Given the description of an element on the screen output the (x, y) to click on. 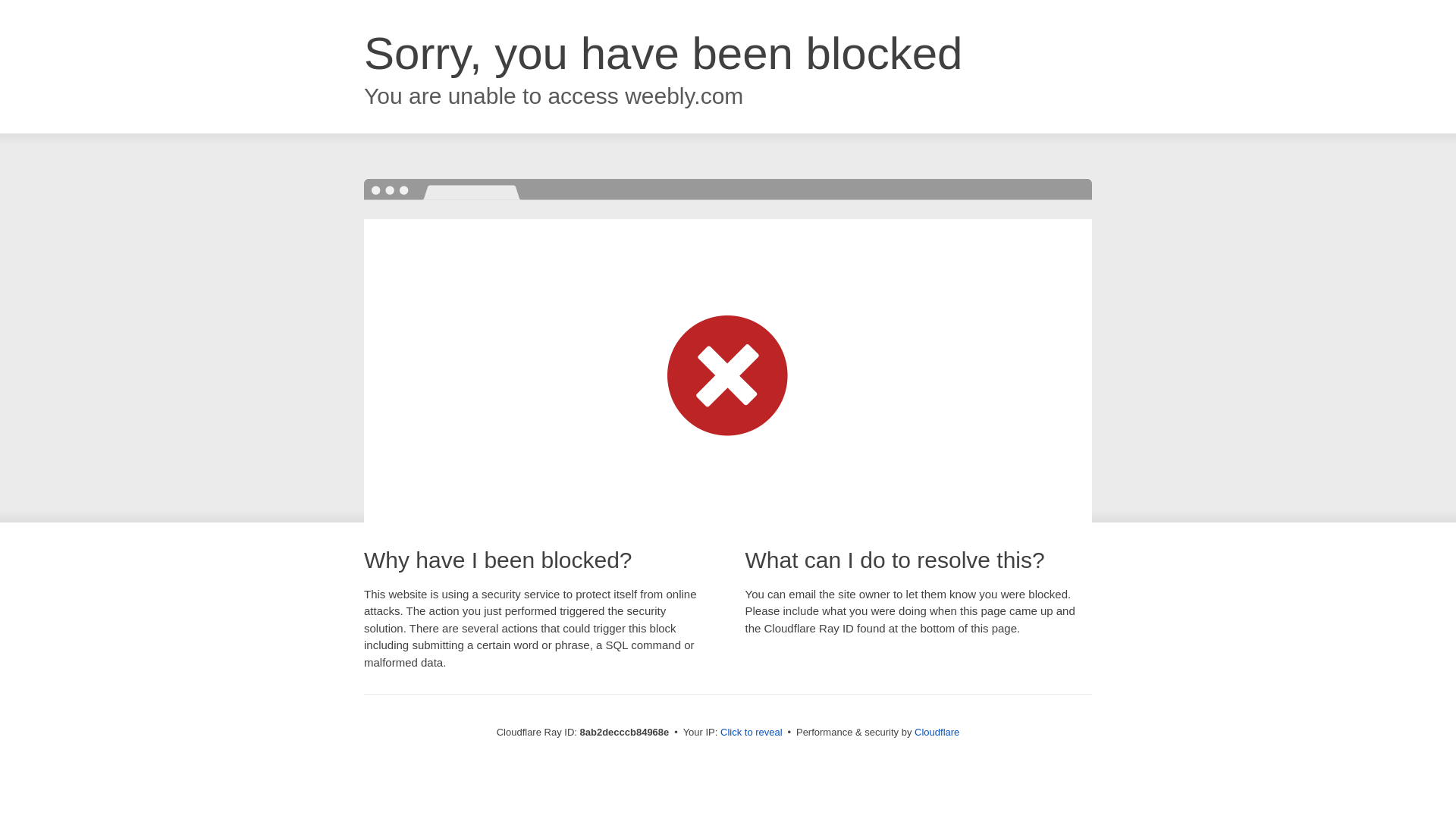
Cloudflare (936, 731)
Click to reveal (751, 732)
